Given the description of an element on the screen output the (x, y) to click on. 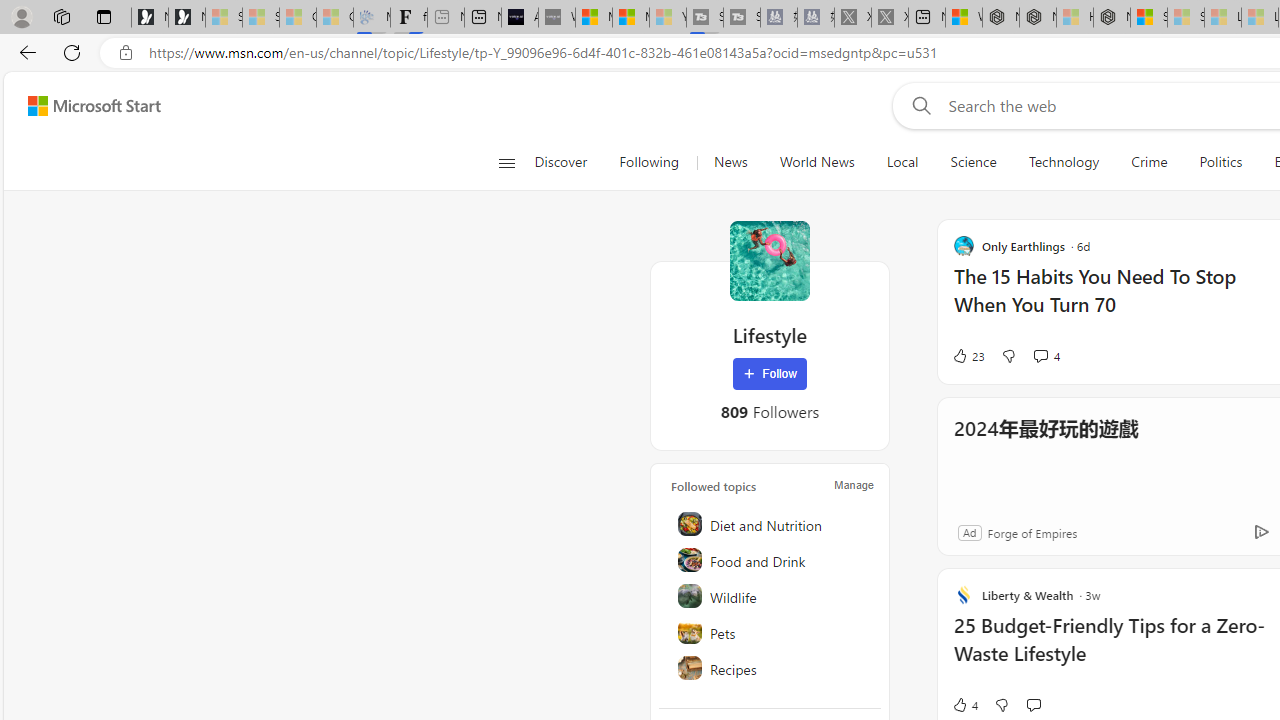
Nordace - Summer Adventures 2024 (1037, 17)
